Given the description of an element on the screen output the (x, y) to click on. 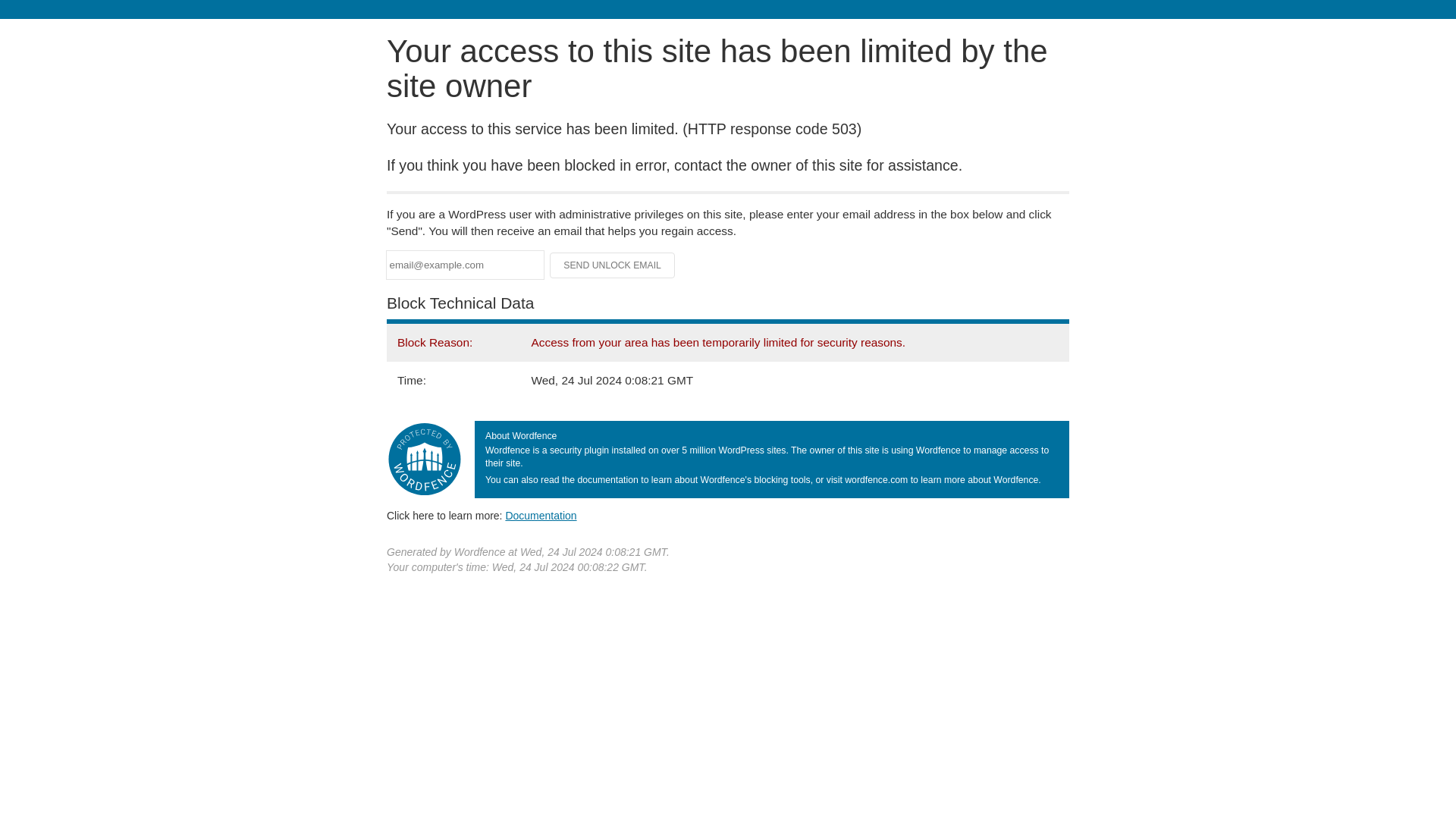
Documentation (540, 515)
Send Unlock Email (612, 265)
Send Unlock Email (612, 265)
